Given the description of an element on the screen output the (x, y) to click on. 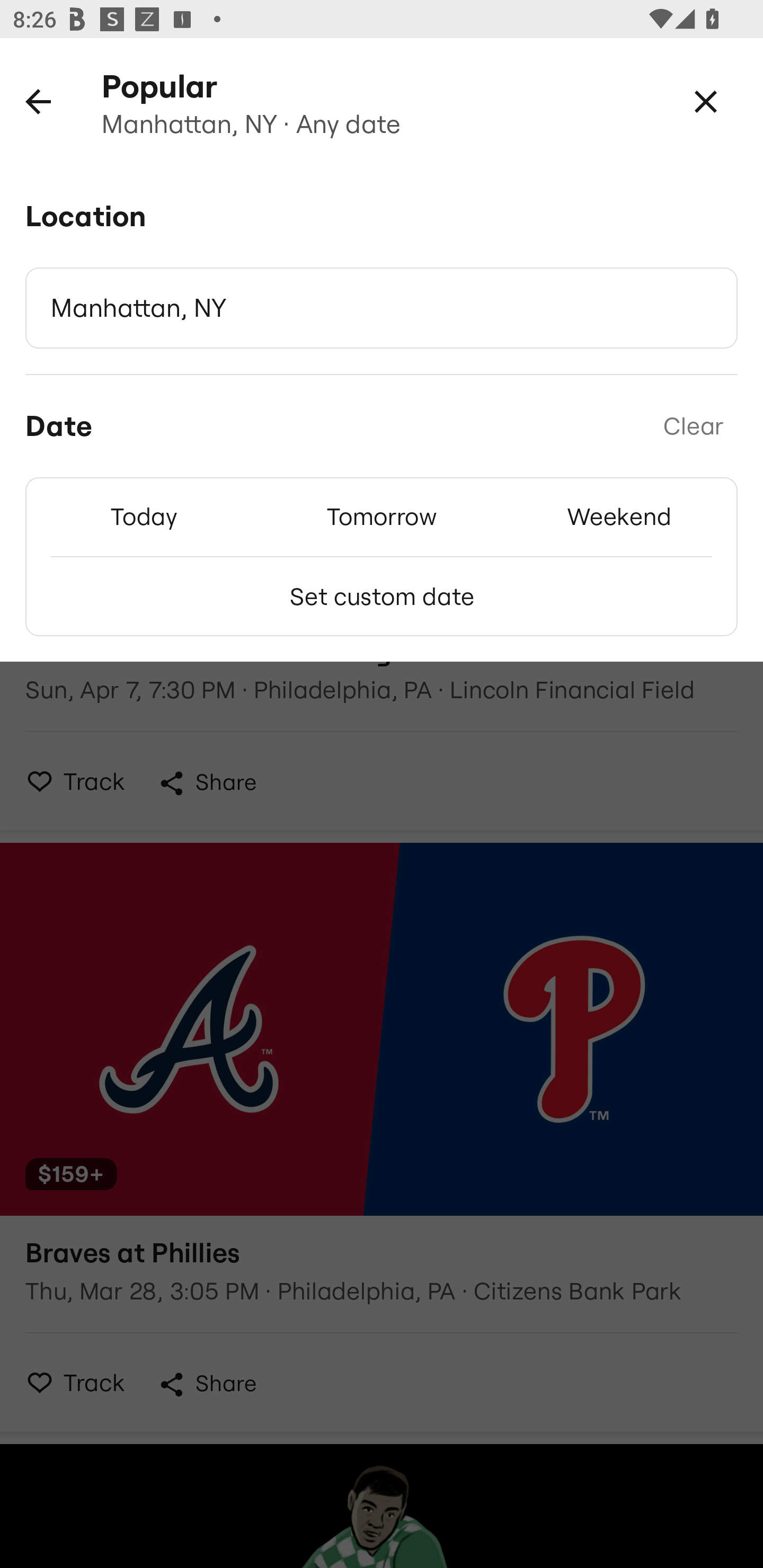
Back (38, 100)
Close (705, 100)
Manhattan, NY (381, 308)
Clear (693, 426)
Today (143, 516)
Tomorrow (381, 516)
Weekend (618, 516)
Set custom date (381, 596)
